Given the description of an element on the screen output the (x, y) to click on. 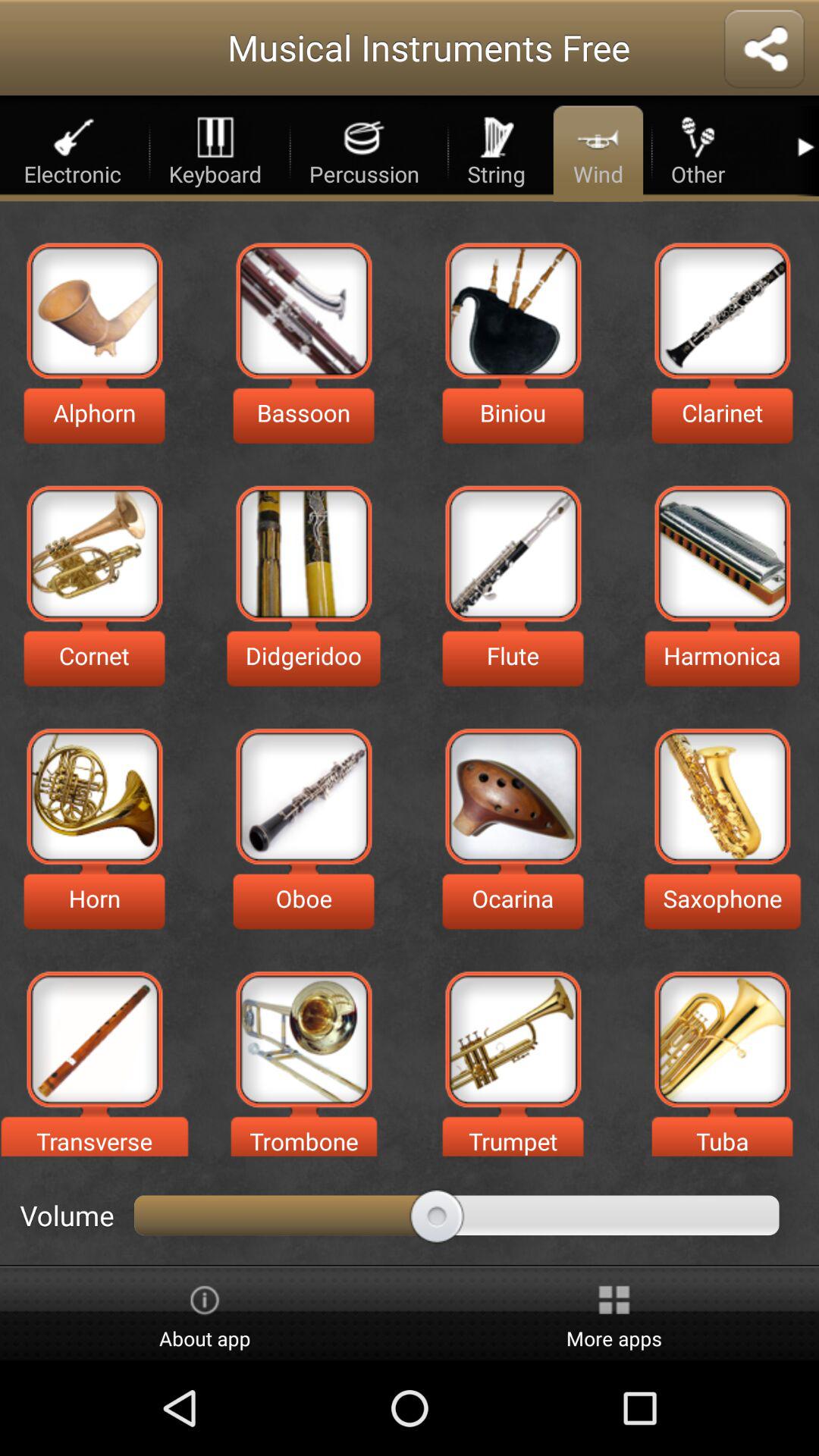
share the article (764, 50)
